Given the description of an element on the screen output the (x, y) to click on. 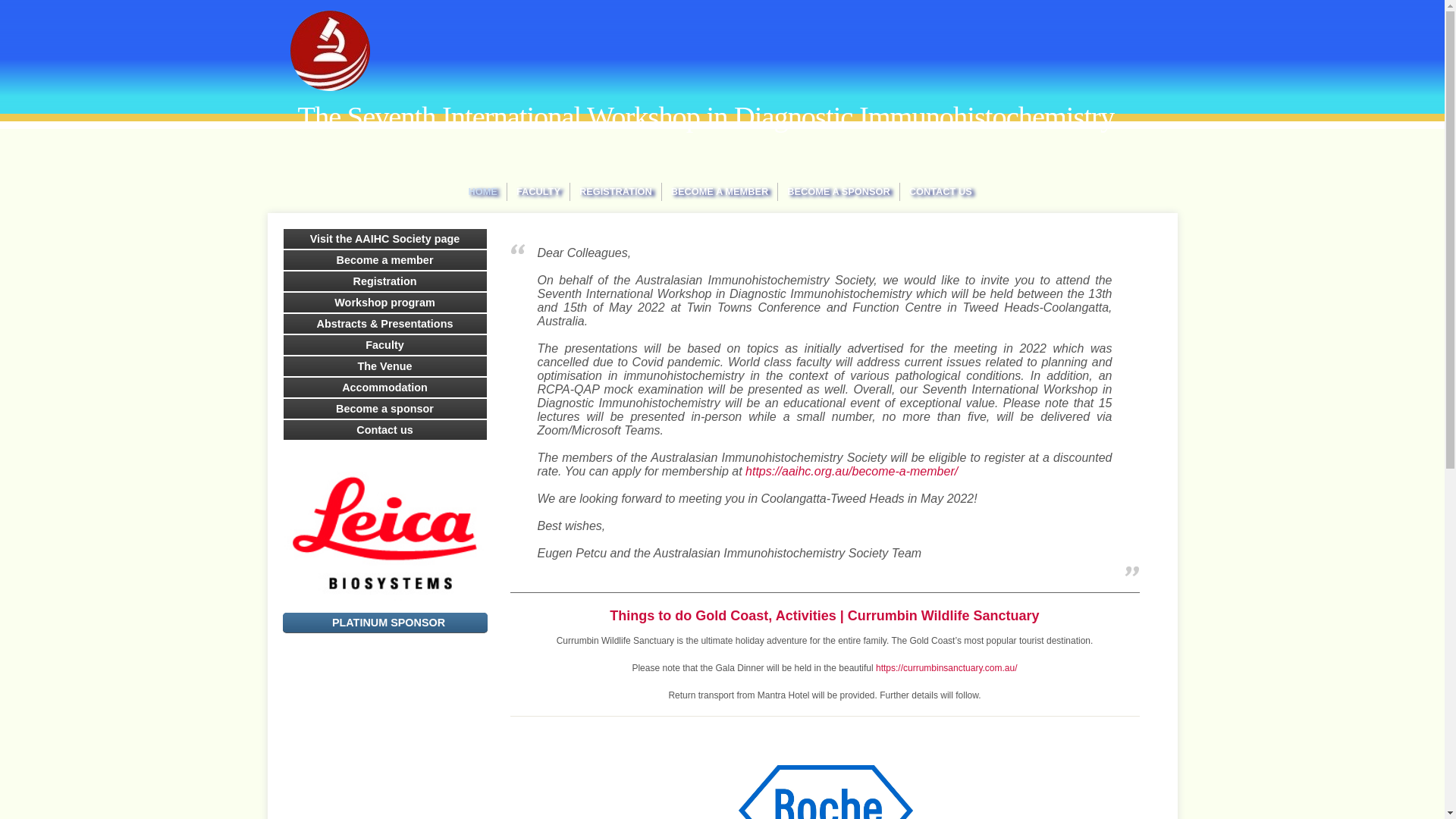
The Venue Element type: text (384, 366)
BECOME A MEMBER Element type: text (719, 191)
Workshop program Element type: text (384, 302)
CONTACT US Element type: text (940, 191)
Accommodation Element type: text (384, 387)
Faculty Element type: text (384, 344)
REGISTRATION Element type: text (615, 191)
Abstracts & Presentations Element type: text (384, 323)
Become a sponsor Element type: text (384, 408)
BECOME A SPONSOR Element type: text (838, 191)
Become a member Element type: text (384, 259)
Contact us Element type: text (384, 429)
FACULTY Element type: text (538, 191)
Visit the AAIHC Society page Element type: text (384, 238)
HOME Element type: text (482, 191)
https://currumbinsanctuary.com.au/ Element type: text (946, 667)
Registration Element type: text (384, 281)
https://aaihc.org.au/become-a-member/ Element type: text (851, 470)
